Given the description of an element on the screen output the (x, y) to click on. 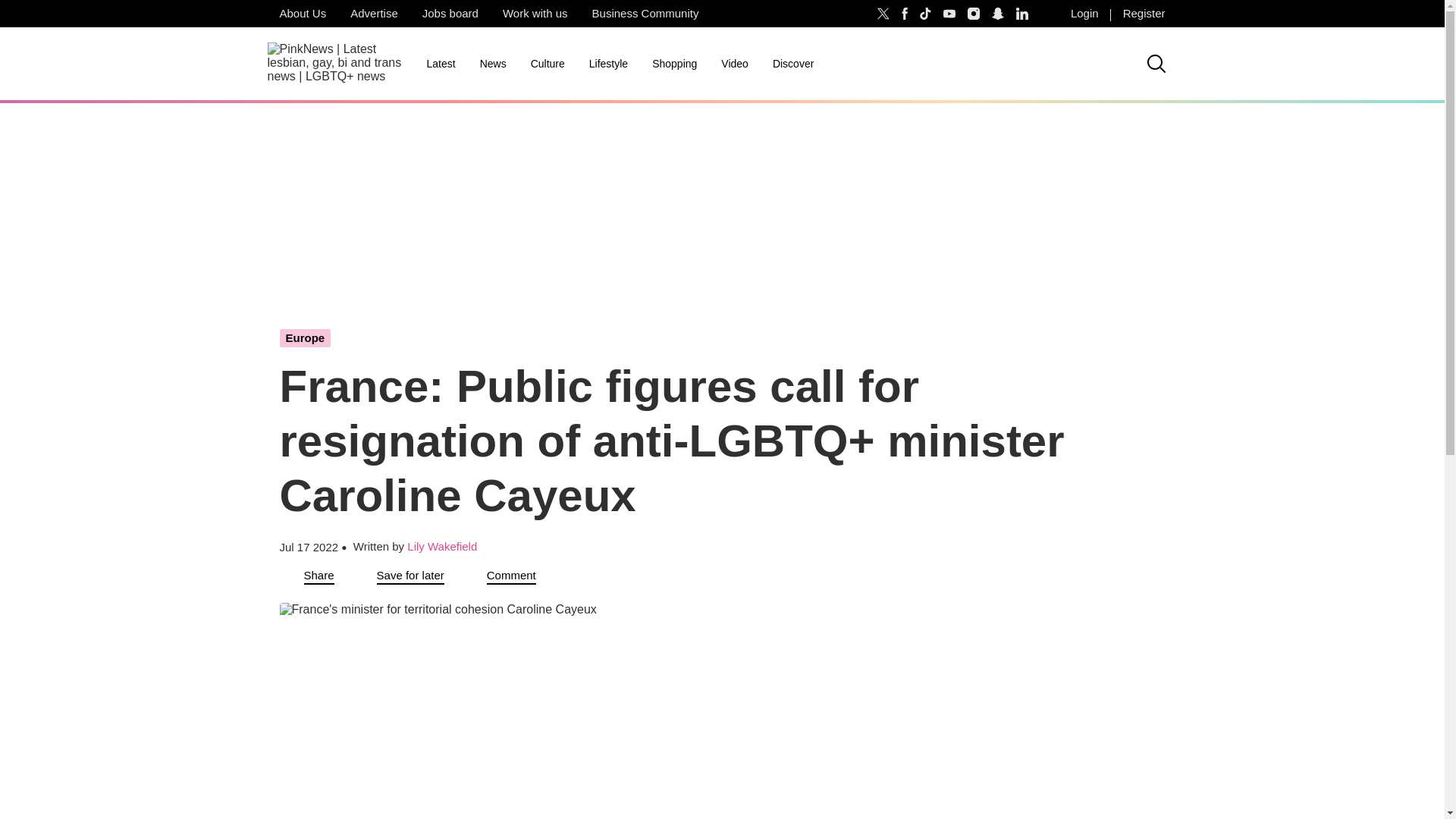
Register (1143, 13)
Business Community (645, 13)
Login (1084, 13)
Advertise (373, 13)
Jobs board (450, 13)
News (493, 63)
Latest (440, 63)
Lifestyle (608, 63)
Culture (547, 63)
Follow PinkNews on LinkedIn (1021, 13)
About Us (301, 13)
Work with us (534, 13)
